Given the description of an element on the screen output the (x, y) to click on. 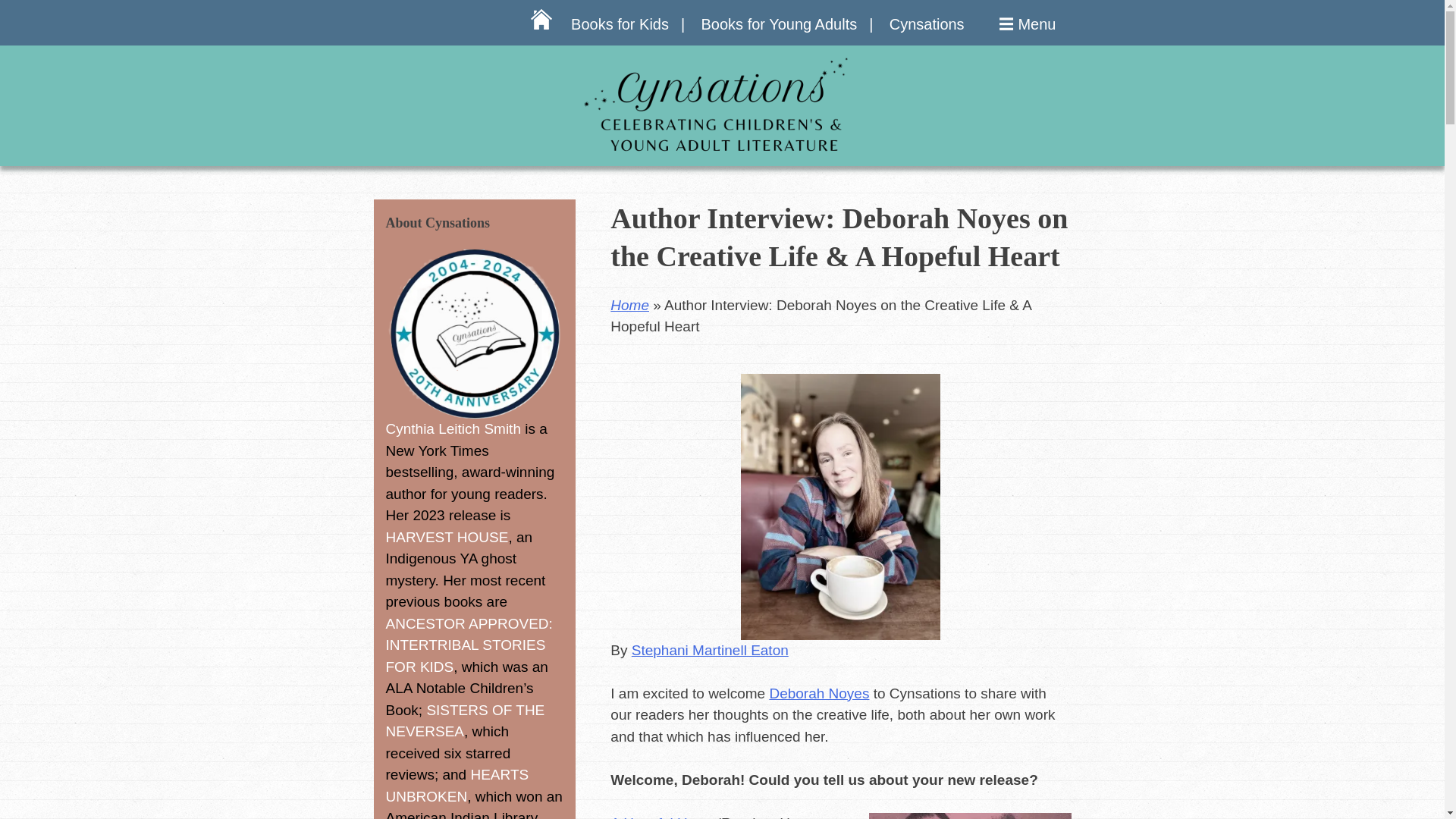
Cynsations (926, 24)
Books for Young Adults (786, 24)
Books for Kids (627, 24)
Stephani Martinell Eaton (710, 650)
Home (629, 304)
A Hopeful Heart (660, 816)
Deborah Noyes (818, 693)
